Given the description of an element on the screen output the (x, y) to click on. 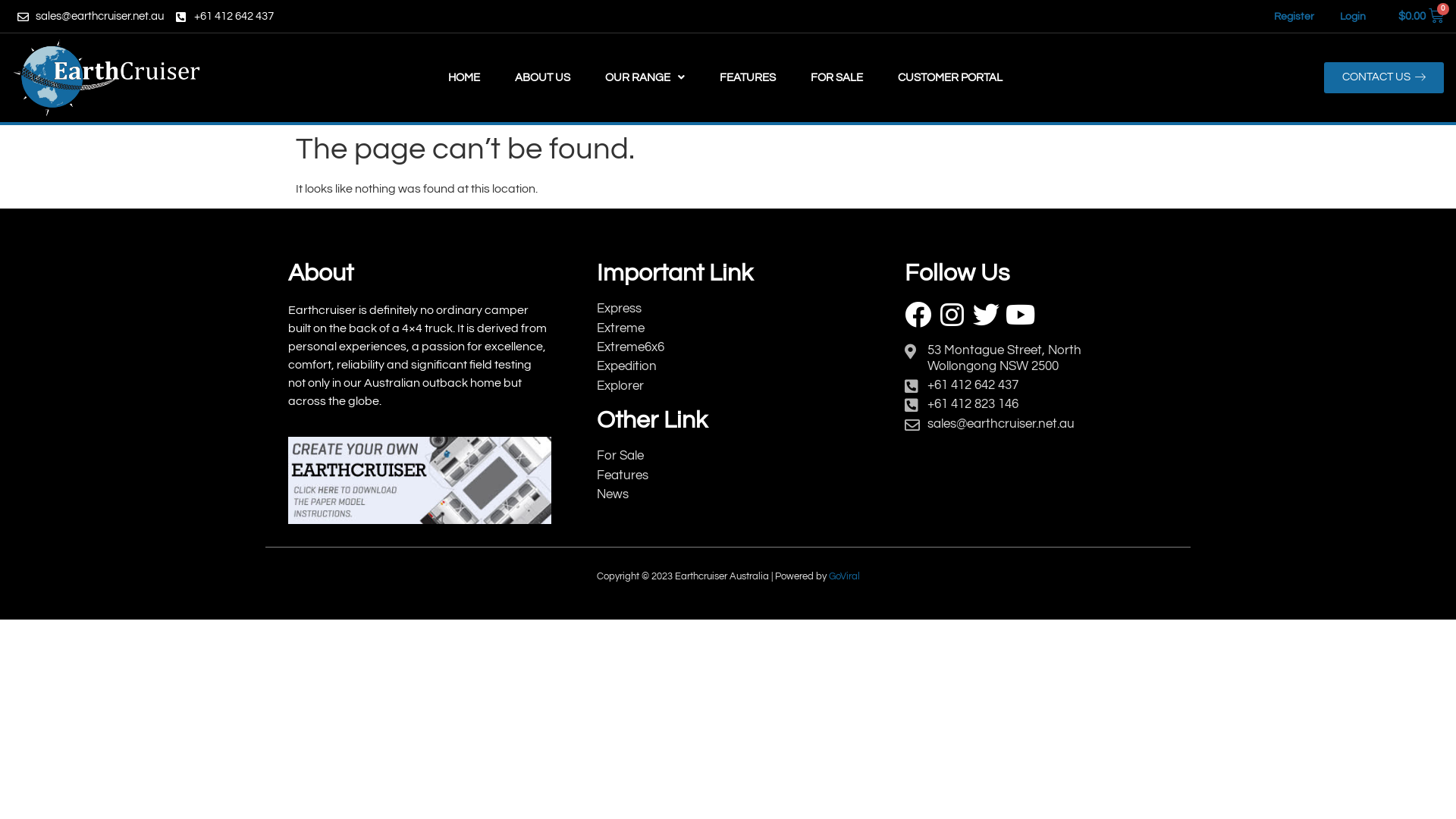
CUSTOMER PORTAL Element type: text (949, 77)
Explorer Element type: text (690, 385)
FOR SALE Element type: text (836, 77)
CONTACT US Element type: text (1383, 77)
Expedition Element type: text (690, 365)
For Sale Element type: text (690, 455)
$0.00
0 Element type: text (1421, 15)
+61 412 642 437 Element type: text (998, 384)
FEATURES Element type: text (747, 77)
Features Element type: text (690, 475)
News Element type: text (690, 494)
sales@earthcruiser.net.au Element type: text (998, 423)
Register Element type: text (1293, 15)
Extreme Element type: text (690, 327)
HOME Element type: text (463, 77)
OUR RANGE Element type: text (644, 77)
GoViral Element type: text (843, 576)
Login Element type: text (1352, 15)
ABOUT US Element type: text (542, 77)
Extreme6x6 Element type: text (690, 346)
Express Element type: text (690, 308)
